Given the description of an element on the screen output the (x, y) to click on. 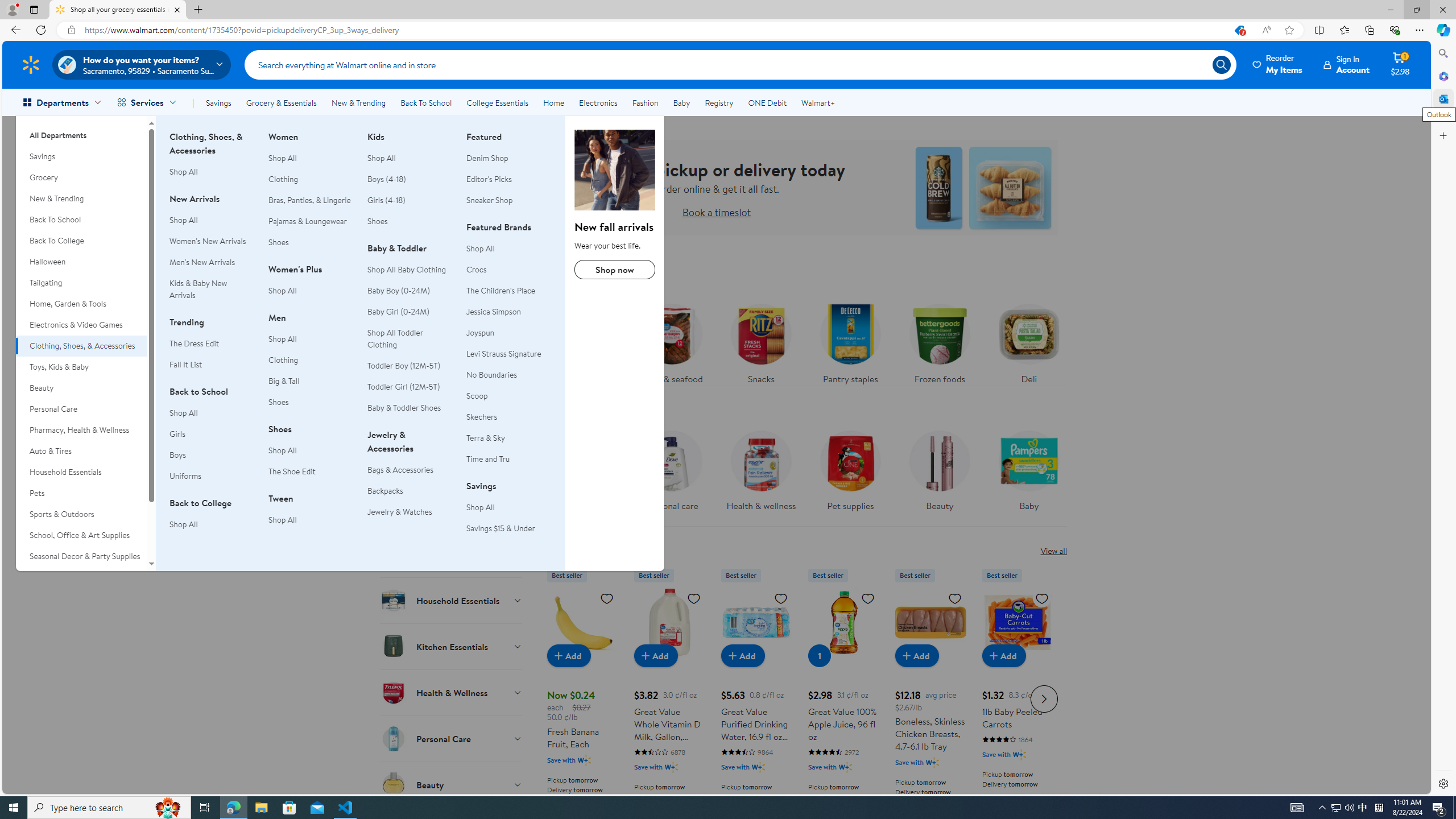
Movies, Music & Books (81, 577)
Walmart Homepage (30, 64)
Baby Boy (0-24M) (409, 290)
College Essentials (496, 102)
The Children's Place (500, 290)
Kitchen Essentials (451, 646)
Denim Shop (486, 157)
Pet supplies (850, 467)
Grocery (81, 177)
Household essentials (582, 473)
Pet supplies (850, 473)
